Given the description of an element on the screen output the (x, y) to click on. 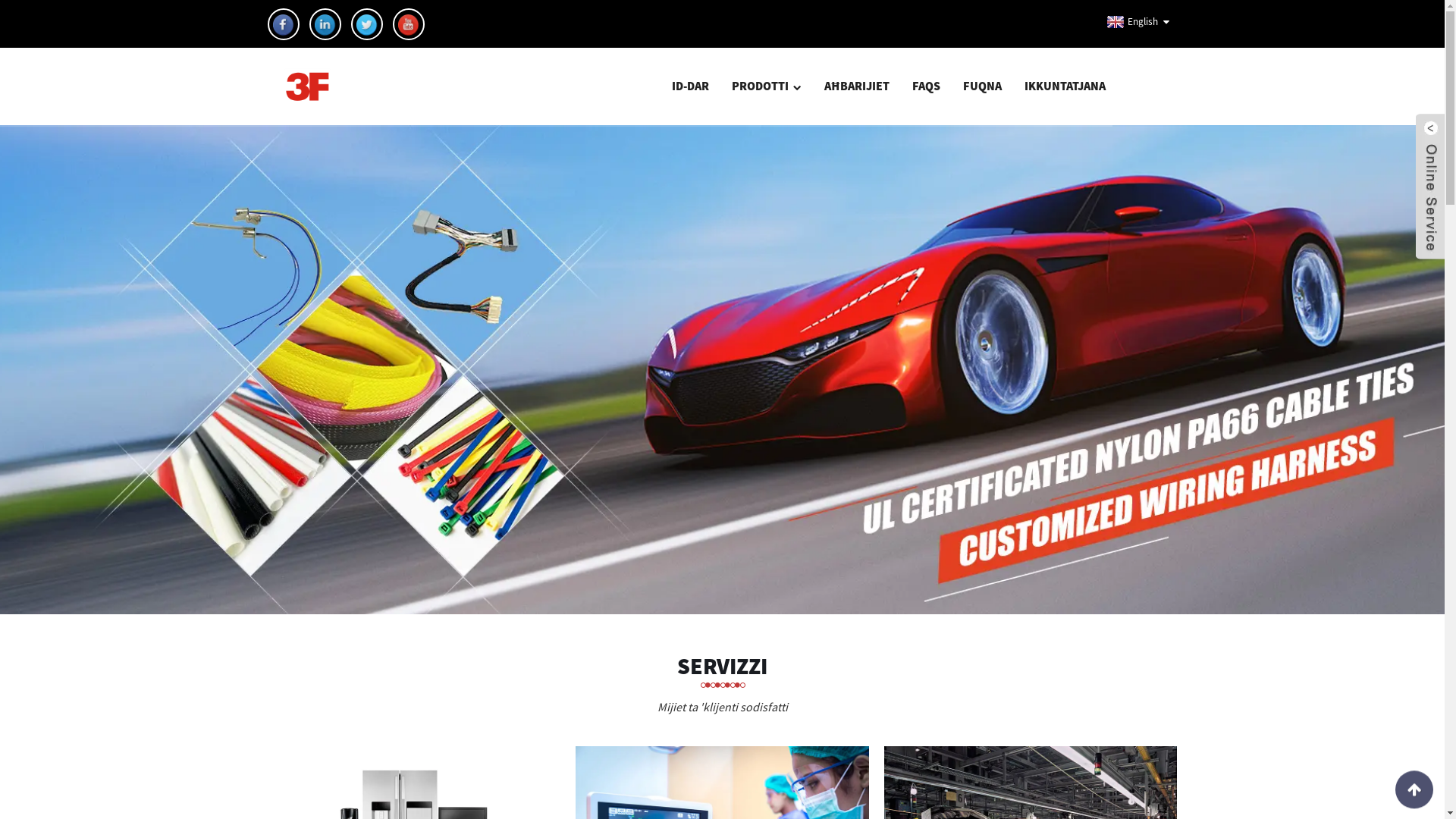
English Element type: text (1129, 21)
ID-DAR Element type: text (689, 85)
FUQNA Element type: text (981, 85)
PRODOTTI Element type: text (766, 86)
IKKUNTATJANA Element type: text (1065, 85)
FAQS Element type: text (925, 85)
